Given the description of an element on the screen output the (x, y) to click on. 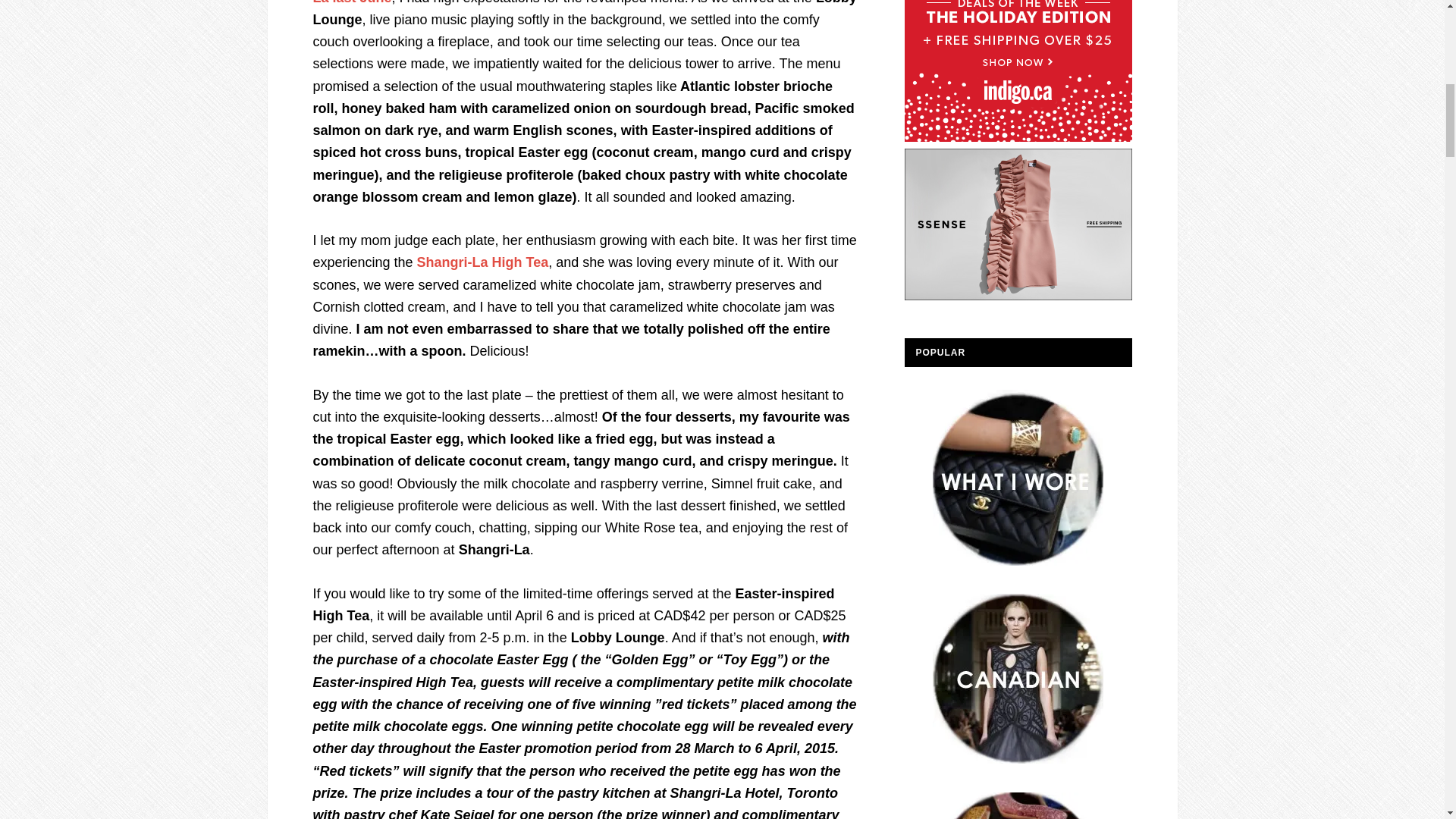
Shangri-La High Tea (482, 262)
